Given the description of an element on the screen output the (x, y) to click on. 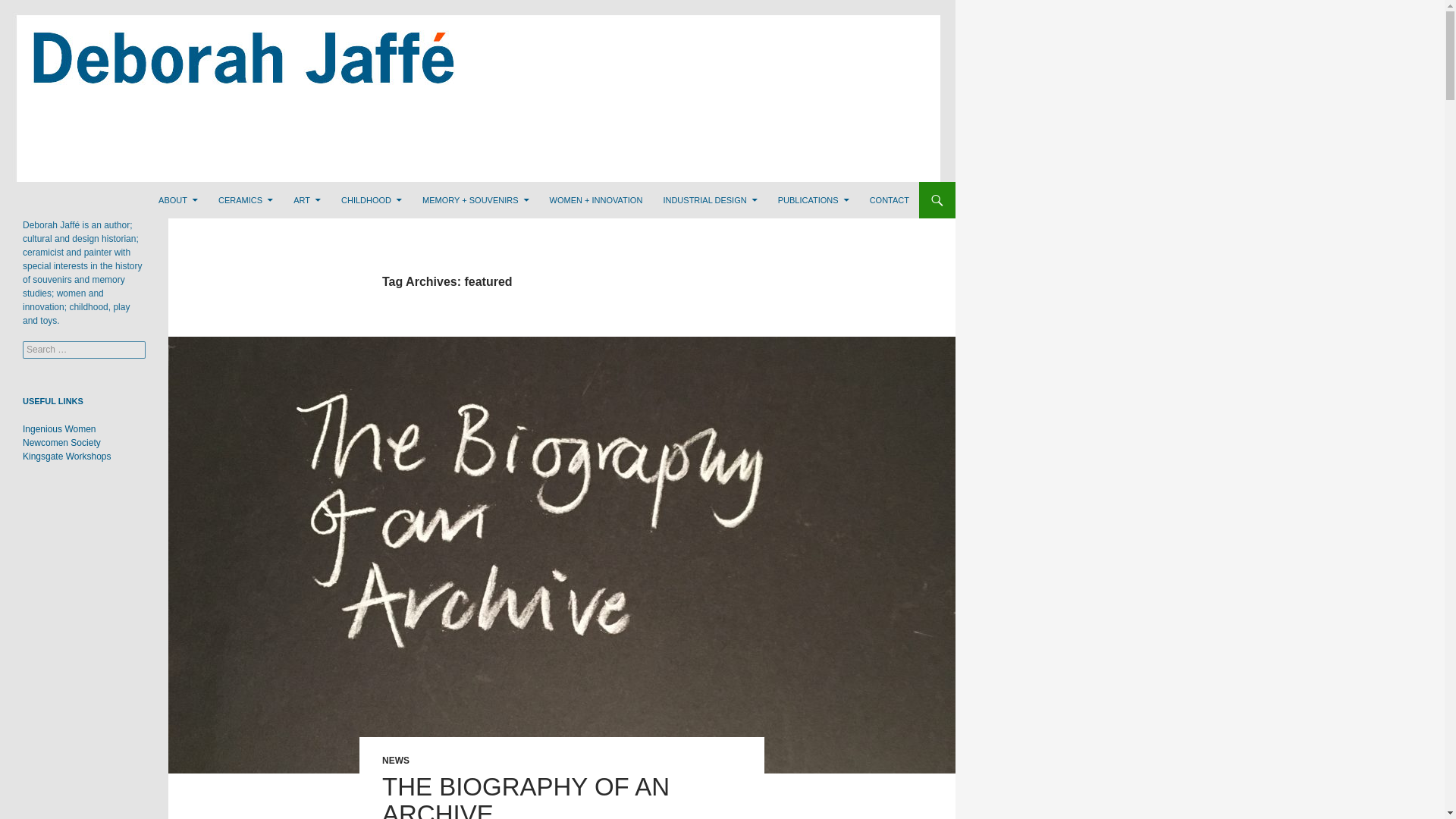
CHILDHOOD (370, 199)
ABOUT (177, 199)
INDUSTRIAL DESIGN (709, 199)
ART (306, 199)
PUBLICATIONS (813, 199)
CERAMICS (245, 199)
